Given the description of an element on the screen output the (x, y) to click on. 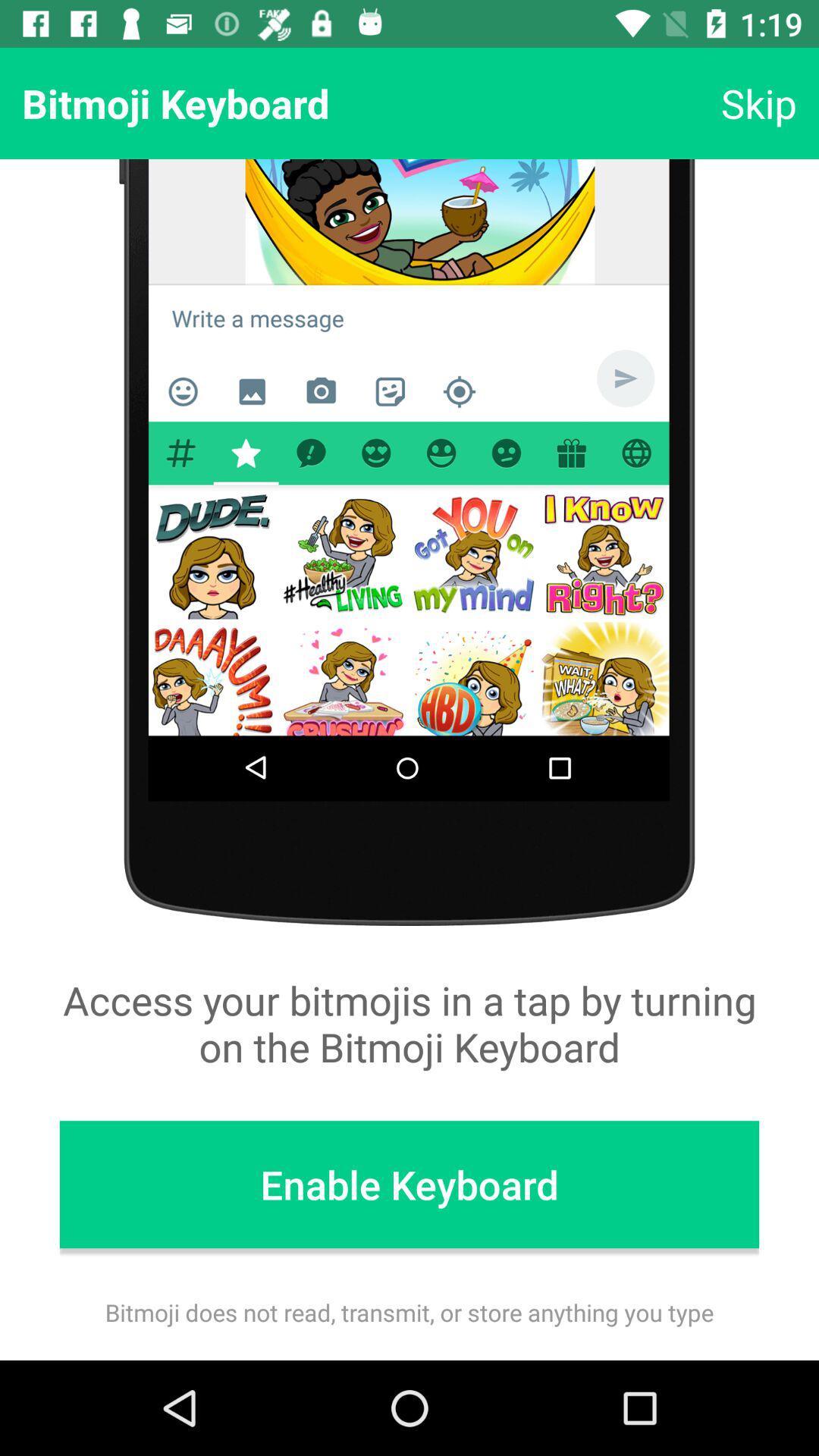
open item below access your bitmojis (409, 1184)
